Given the description of an element on the screen output the (x, y) to click on. 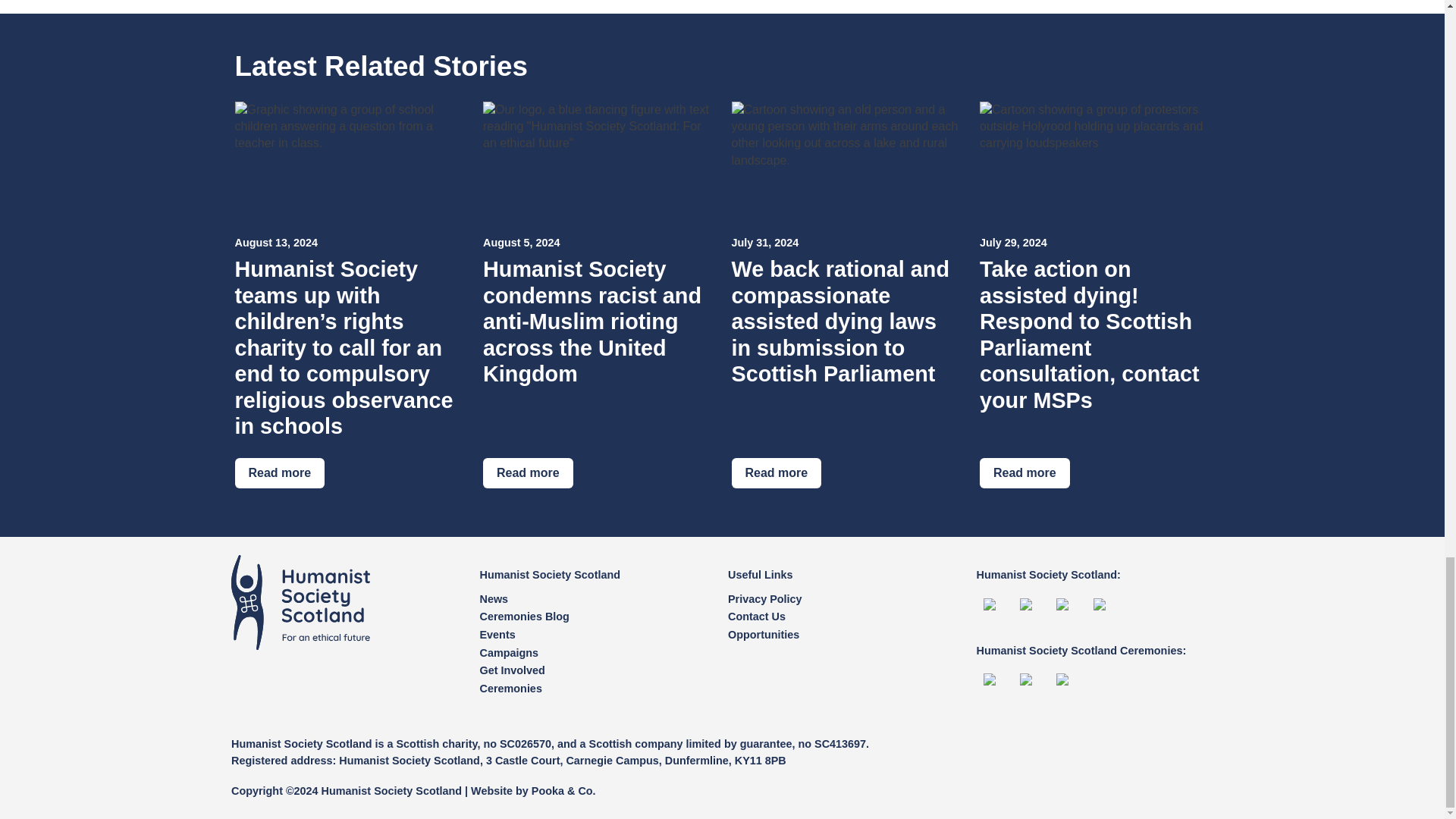
Read more (279, 472)
Read more (528, 472)
Read more (775, 472)
